Given the description of an element on the screen output the (x, y) to click on. 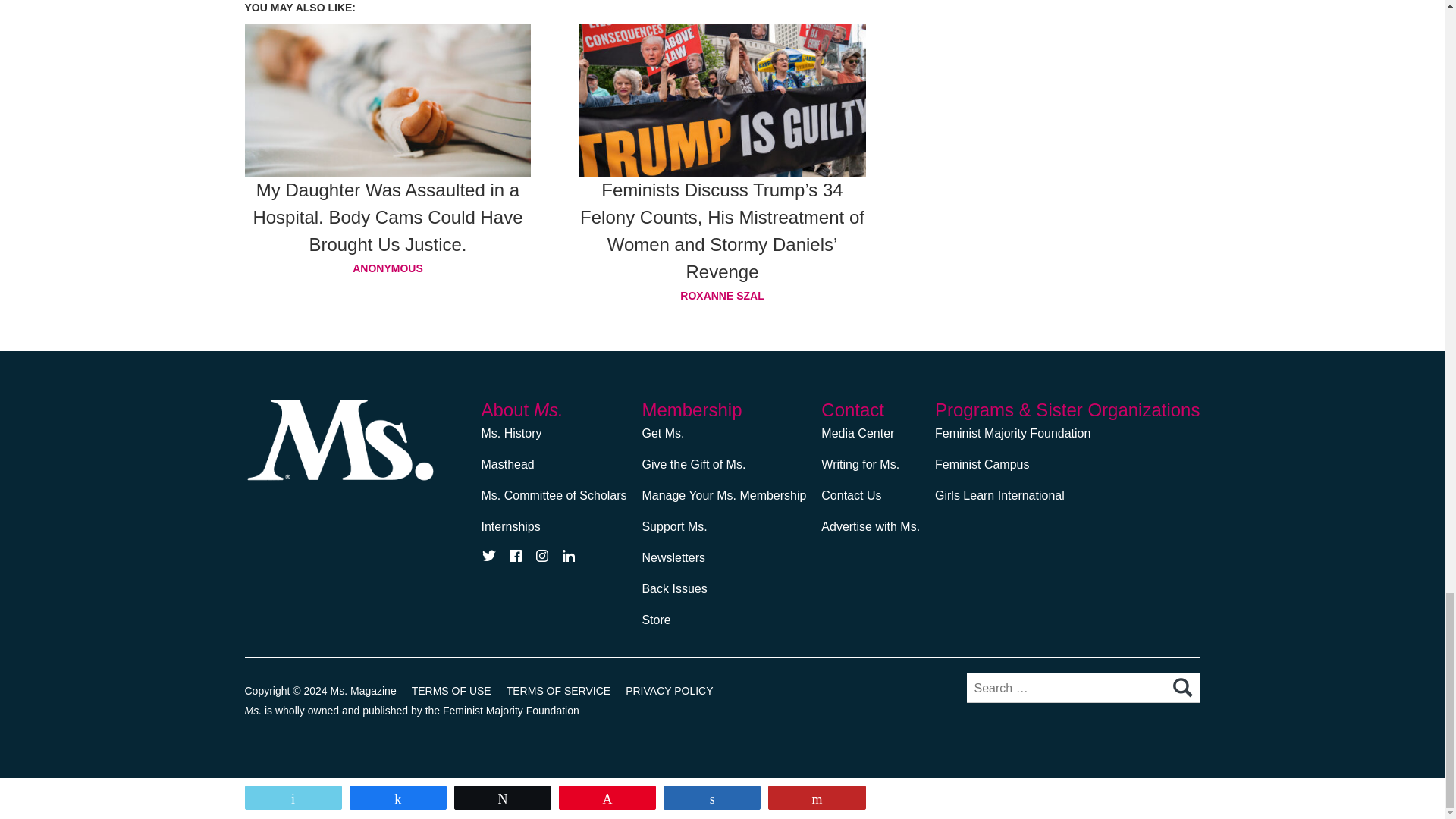
Search for: (1082, 687)
Posts by Roxanne Szal (722, 295)
Posts by Anonymous (387, 268)
Search (1182, 687)
Search (1182, 687)
